Given the description of an element on the screen output the (x, y) to click on. 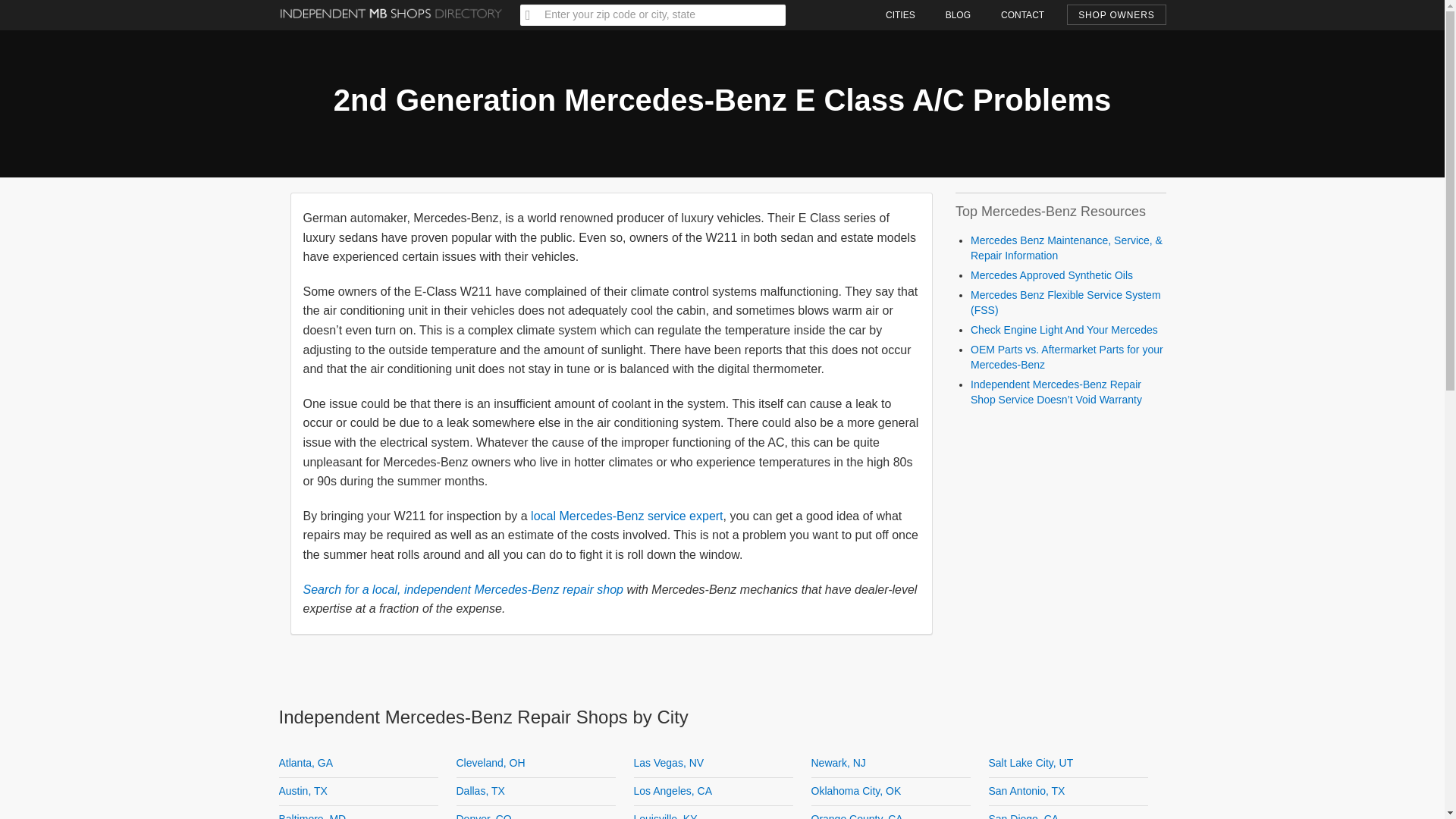
Cleveland, OH (491, 762)
Dallas, TX (481, 790)
Search for a local, independent Mercedes-Benz repair shop (462, 588)
Los Angeles, CA (673, 790)
Atlanta, GA (306, 762)
Mercedes Approved Synthetic Oils (1051, 275)
Baltimore, MD (312, 816)
Independent MB Shops Directory (391, 6)
Austin, TX (303, 790)
local Mercedes-Benz service expert (626, 515)
